Given the description of an element on the screen output the (x, y) to click on. 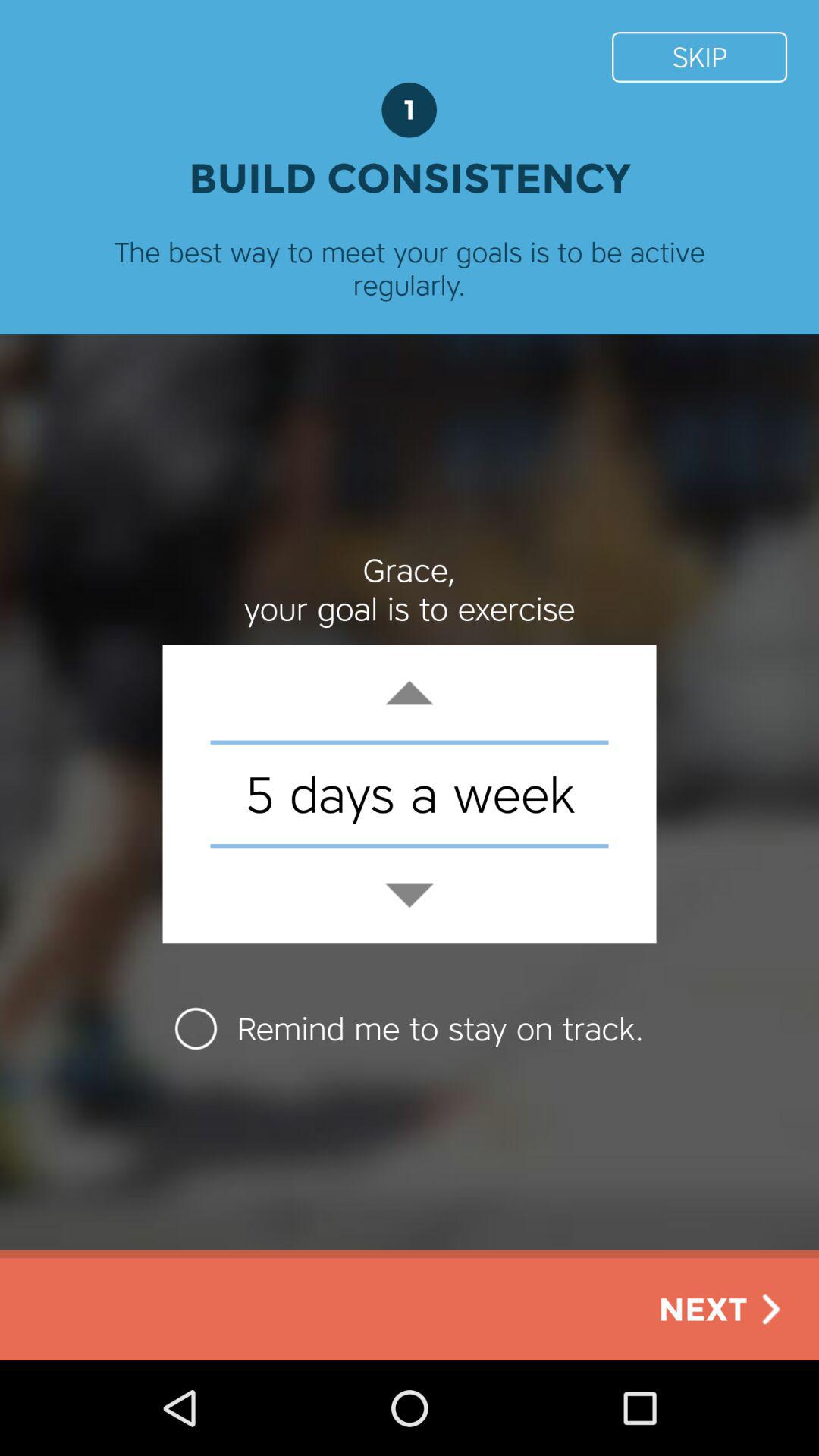
tap remind me to (408, 1028)
